Given the description of an element on the screen output the (x, y) to click on. 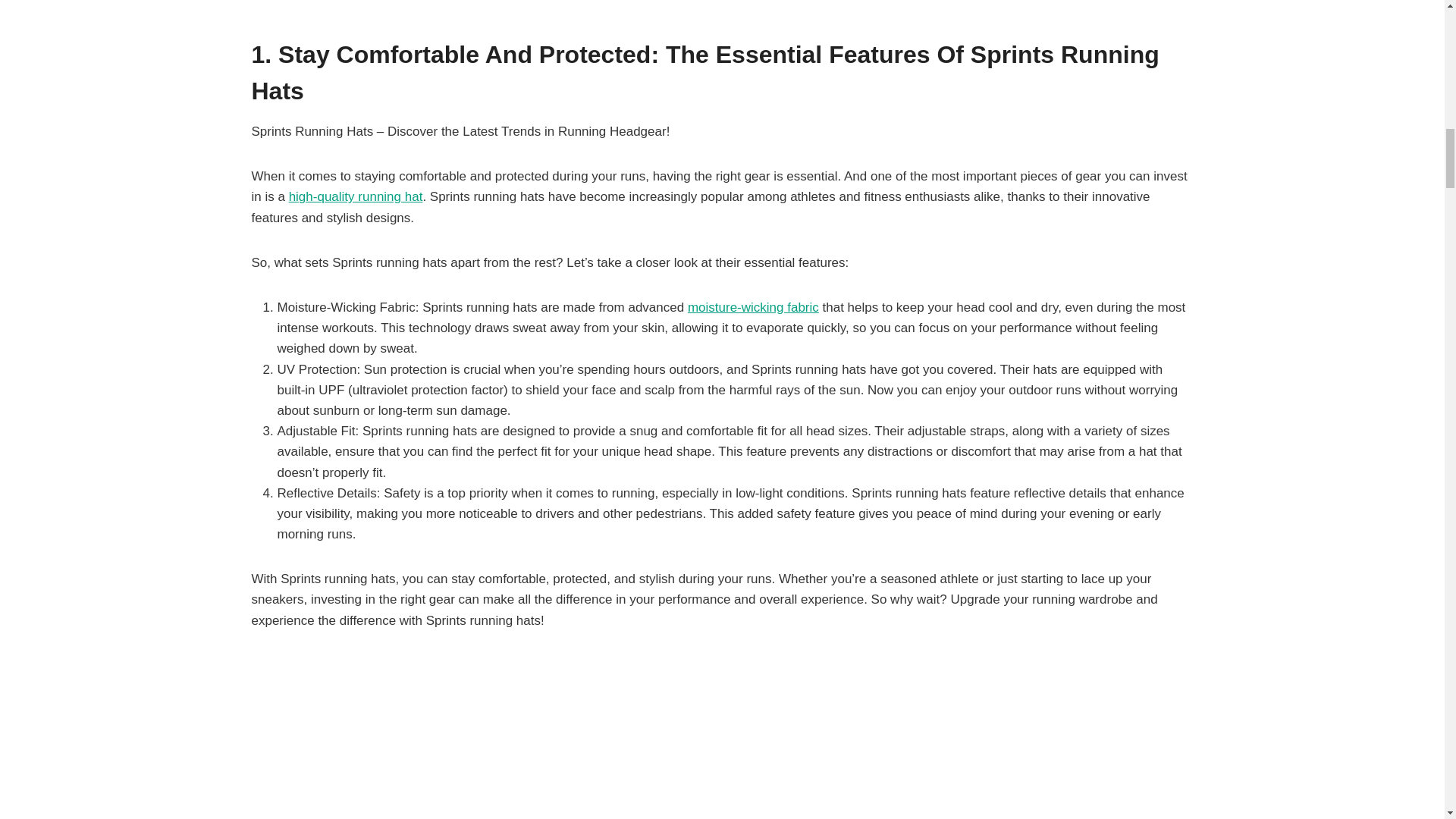
moisture-wicking fabric (752, 307)
high-quality running hat (355, 196)
Alpha Male Underwear: Confidence from the Inside Out (752, 307)
